Given the description of an element on the screen output the (x, y) to click on. 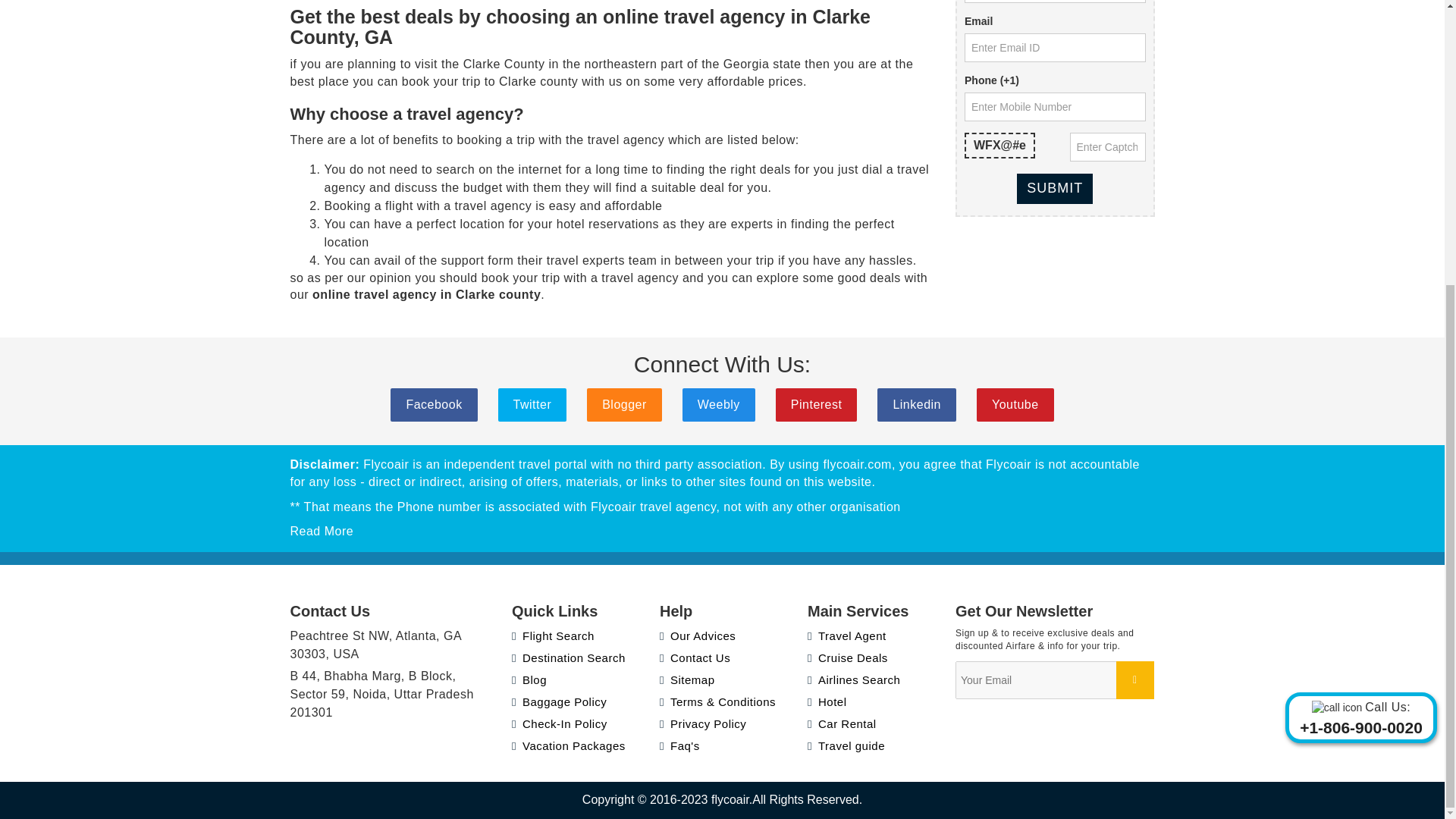
Travel guide (846, 745)
Vacation Packages (569, 745)
Sitemap (686, 679)
Contact Us (694, 657)
Weebly (718, 404)
Linkedin (916, 404)
Blog (529, 679)
Airlines Search (853, 679)
Faq's (679, 745)
Flight Search (553, 635)
